Given the description of an element on the screen output the (x, y) to click on. 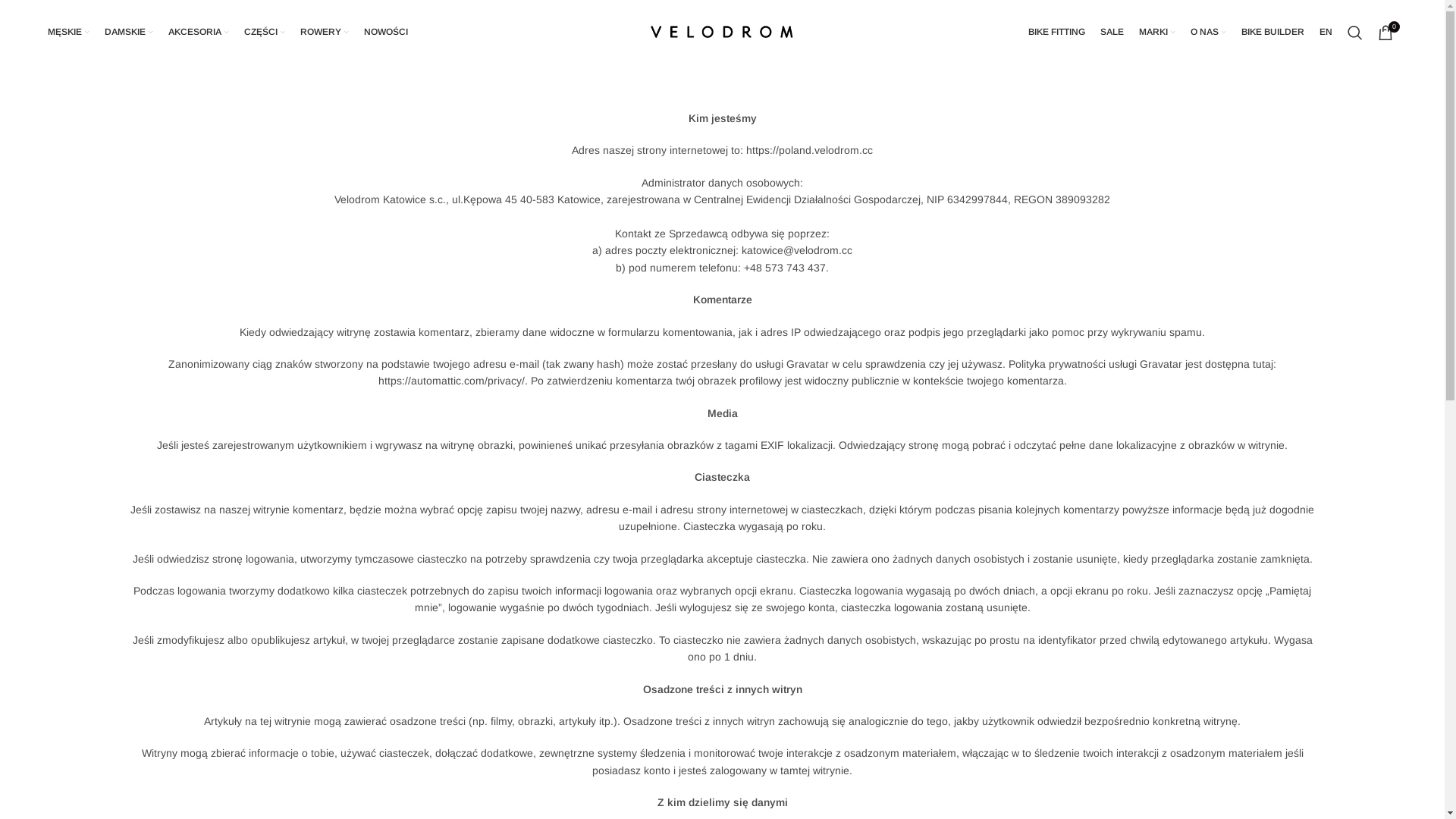
0 Element type: text (1385, 31)
O NAS Element type: text (1208, 31)
AKCESORIA Element type: text (198, 31)
SALE Element type: text (1111, 31)
BIKE FITTING Element type: text (1056, 31)
MARKI Element type: text (1157, 31)
DAMSKIE Element type: text (128, 31)
EN Element type: text (1325, 31)
ROWERY Element type: text (324, 31)
Szukaj Element type: hover (1354, 31)
BIKE BUILDER Element type: text (1272, 31)
